Given the description of an element on the screen output the (x, y) to click on. 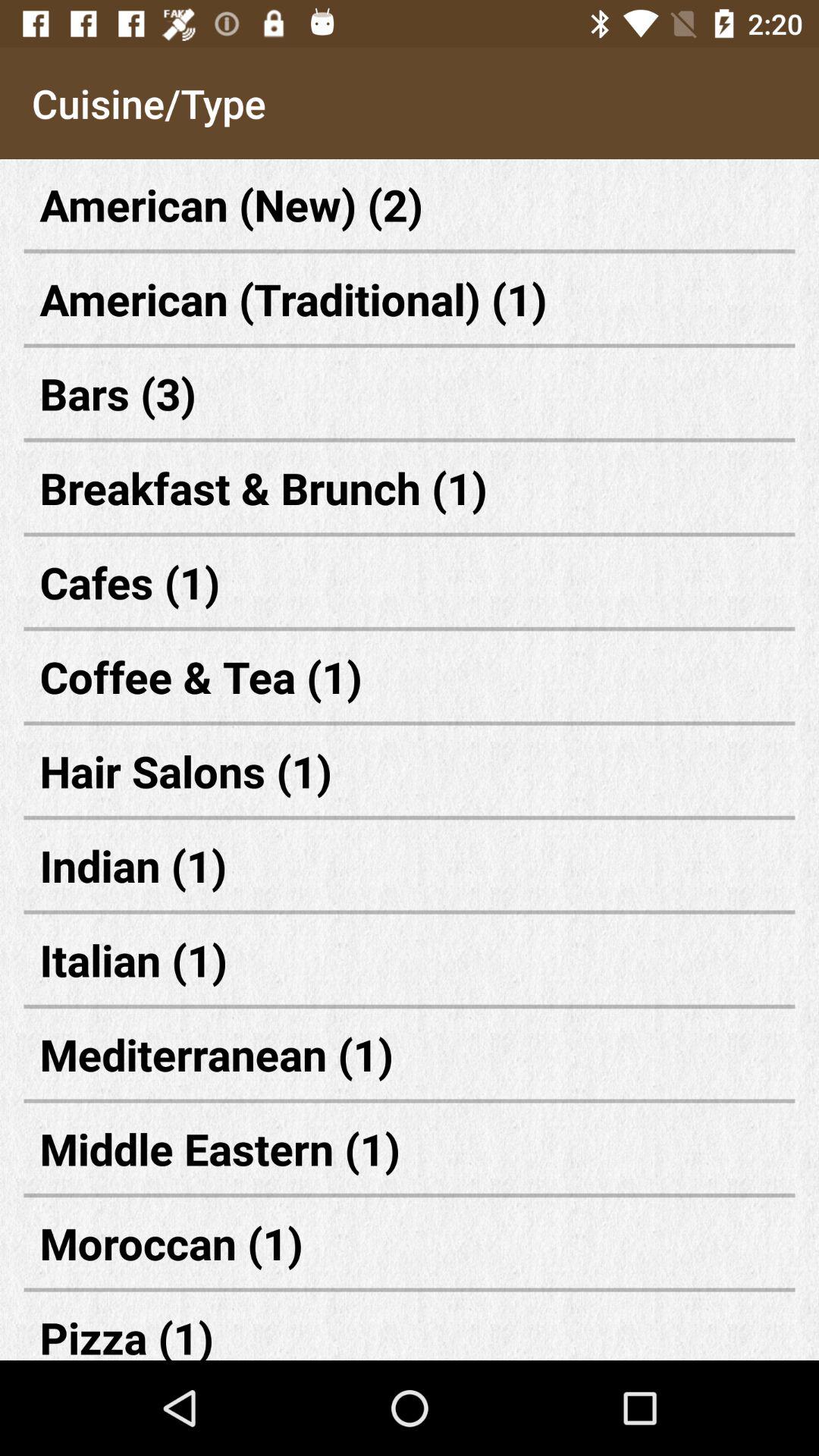
choose icon above the cafes (1) item (409, 487)
